Given the description of an element on the screen output the (x, y) to click on. 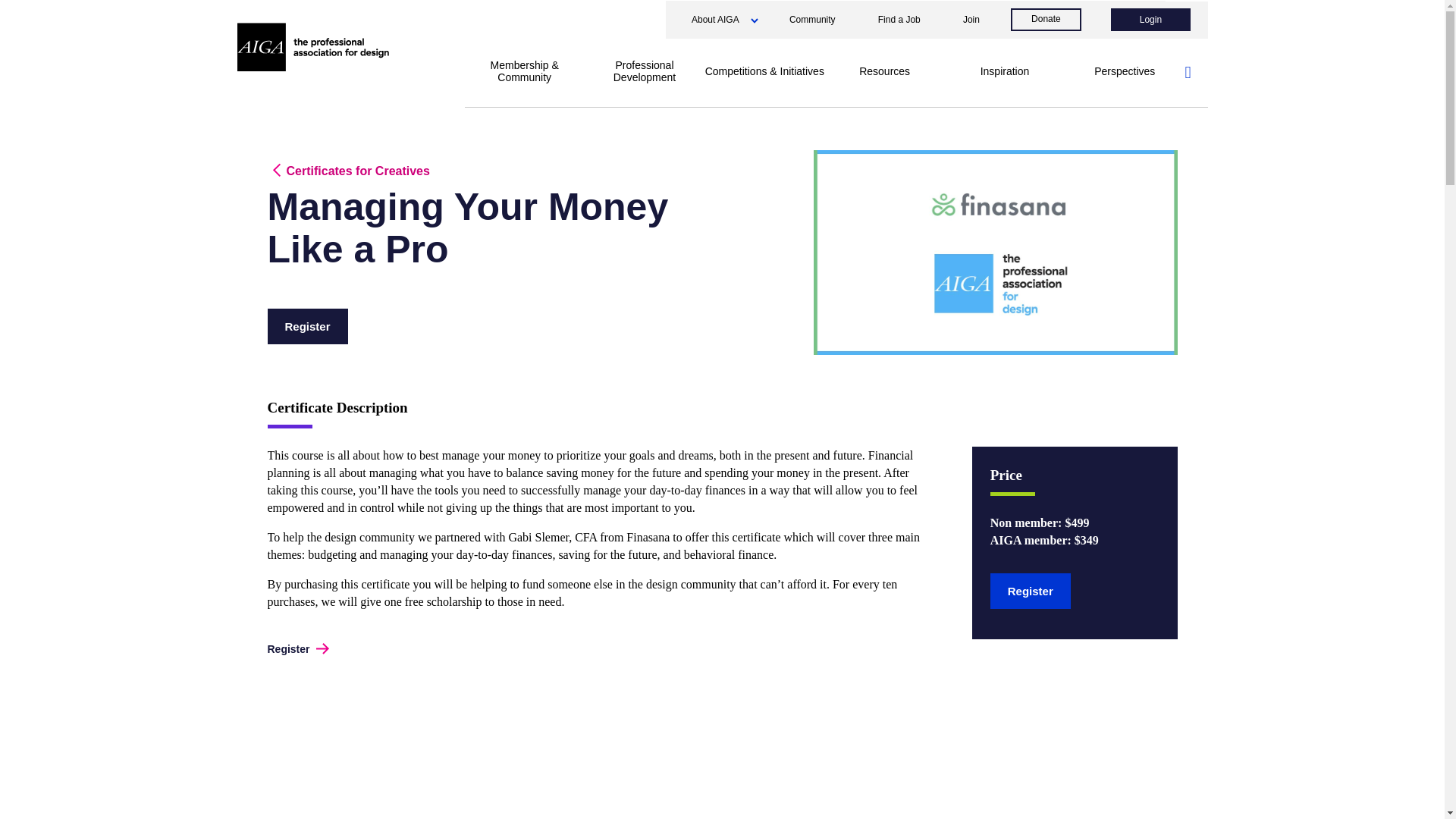
AIGA professional development (994, 251)
Join (970, 19)
AIGA Logo (311, 46)
Login (1150, 19)
Donate (1045, 19)
Find a Job (898, 19)
Professional Development (644, 70)
Community (812, 19)
